Given the description of an element on the screen output the (x, y) to click on. 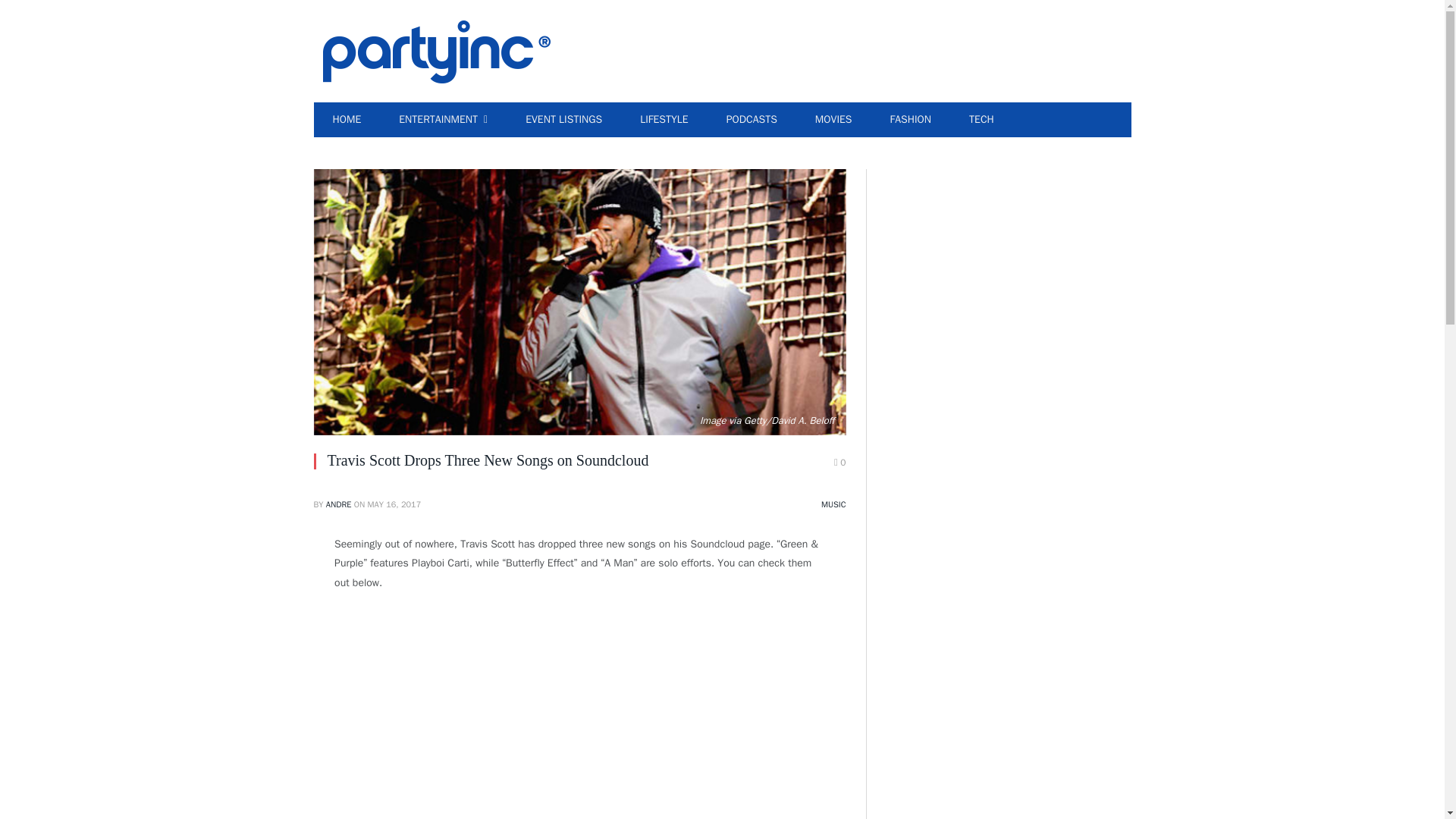
Posts by andre (339, 503)
EVENT LISTINGS (563, 119)
TECH (981, 119)
PODCASTS (751, 119)
ENTERTAINMENT (443, 119)
PartyInc (436, 50)
FASHION (910, 119)
LIFESTYLE (664, 119)
MUSIC (833, 503)
MOVIES (833, 119)
2017-05-16 (395, 503)
HOME (347, 119)
Home (347, 119)
ANDRE (339, 503)
